Given the description of an element on the screen output the (x, y) to click on. 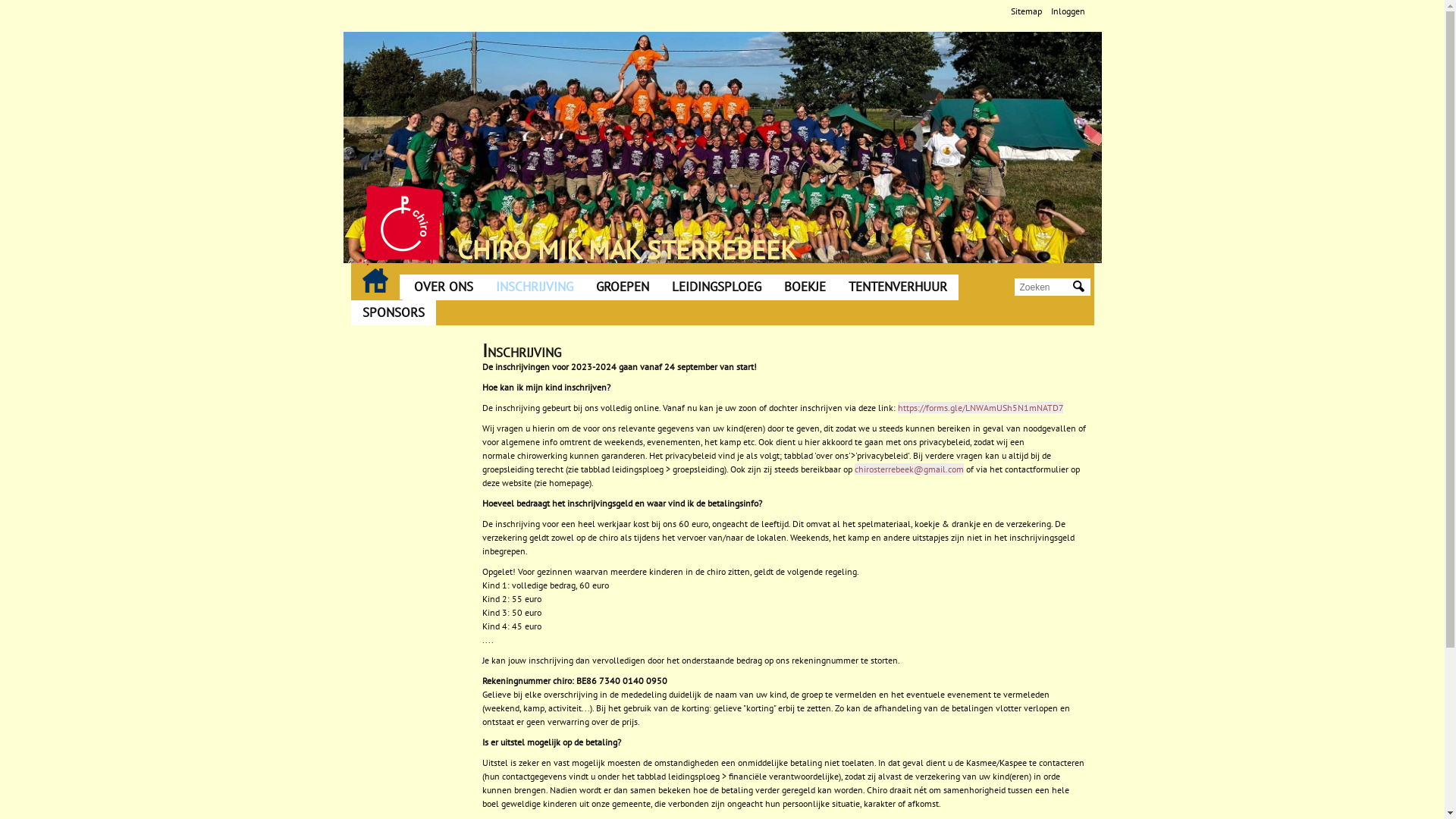
chirosterrebeek@gmail.com Element type: text (908, 468)
HOME Element type: text (374, 280)
Jump to navigation Element type: text (722, 2)
BOEKJE Element type: text (803, 287)
OVER ONS Element type: text (442, 287)
GROEPEN Element type: text (621, 287)
https://forms.gle/LNWAmUSh5N1mNATD7 Element type: text (980, 407)
Geef de woorden op waarnaar u wilt zoeken. Element type: hover (1043, 286)
LEIDINGSPLOEG Element type: text (715, 287)
SPONSORS Element type: text (392, 313)
TENTENVERHUUR Element type: text (897, 287)
Inloggen Element type: text (1068, 10)
CHIRO MIK MAK STERREBEEK Element type: text (625, 249)
Sitemap Element type: text (1025, 10)
INSCHRIJVING Element type: text (533, 287)
Home Element type: hover (401, 225)
